Given the description of an element on the screen output the (x, y) to click on. 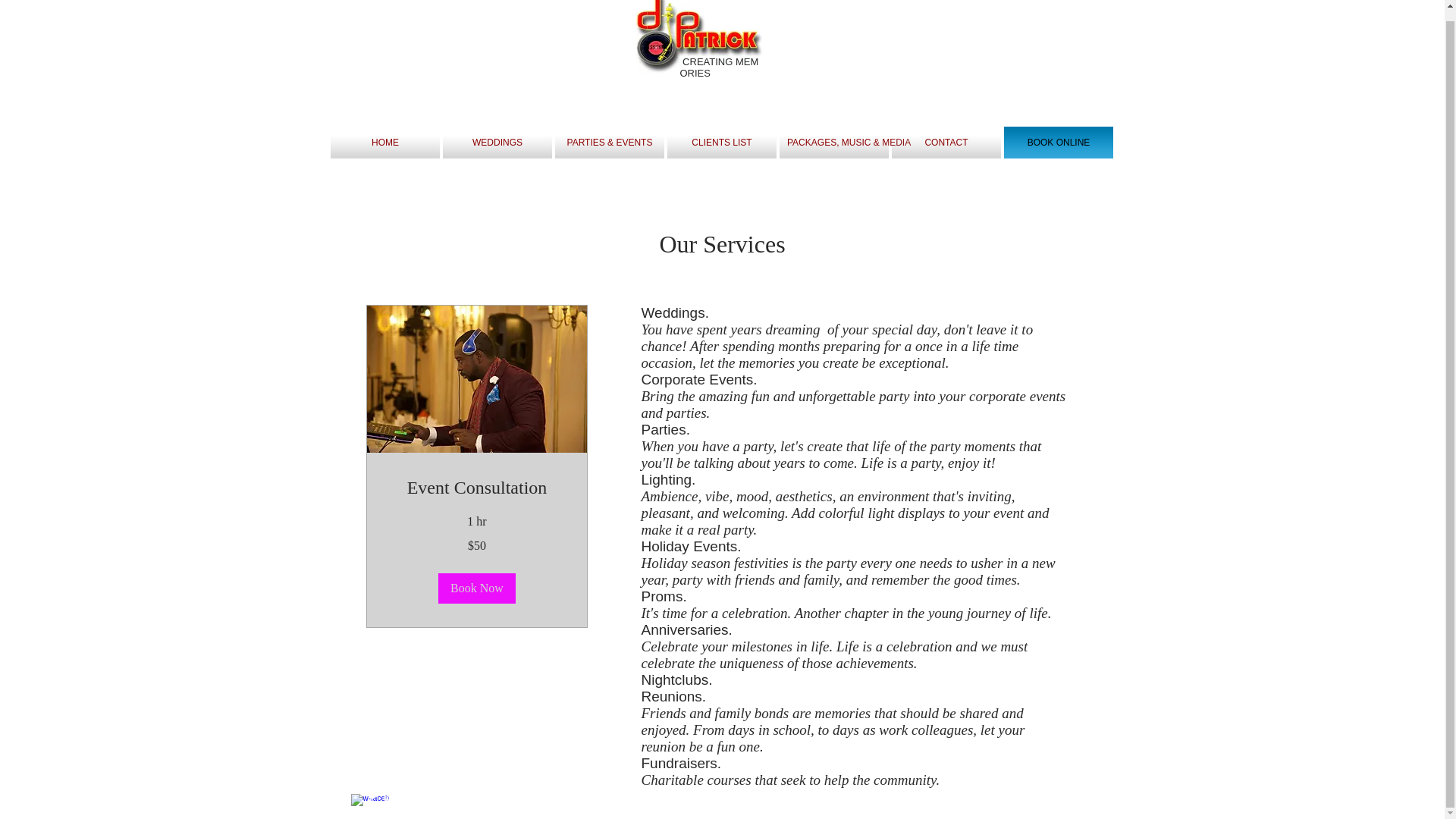
CONTACT (946, 142)
WEDDINGS (497, 142)
HOME (385, 142)
Book Now (476, 588)
CLIENTS LIST (721, 142)
 CREATING MEMORIES (718, 67)
Event Consultation (476, 487)
BOOK ONLINE (1059, 142)
